Given the description of an element on the screen output the (x, y) to click on. 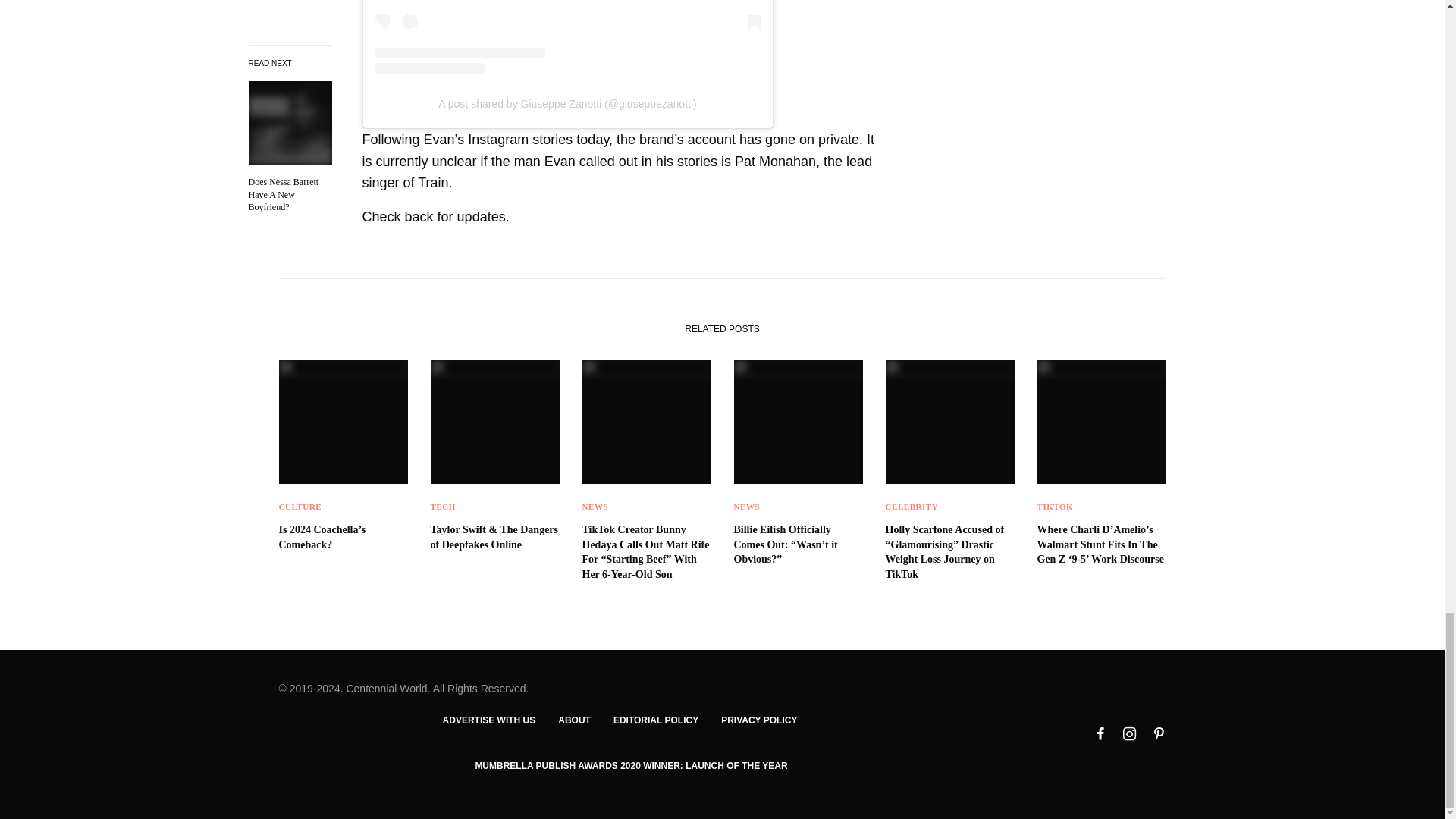
NEWS (746, 506)
View this post on Instagram (567, 36)
NEWS (595, 506)
CULTURE (300, 506)
TECH (442, 506)
